Given the description of an element on the screen output the (x, y) to click on. 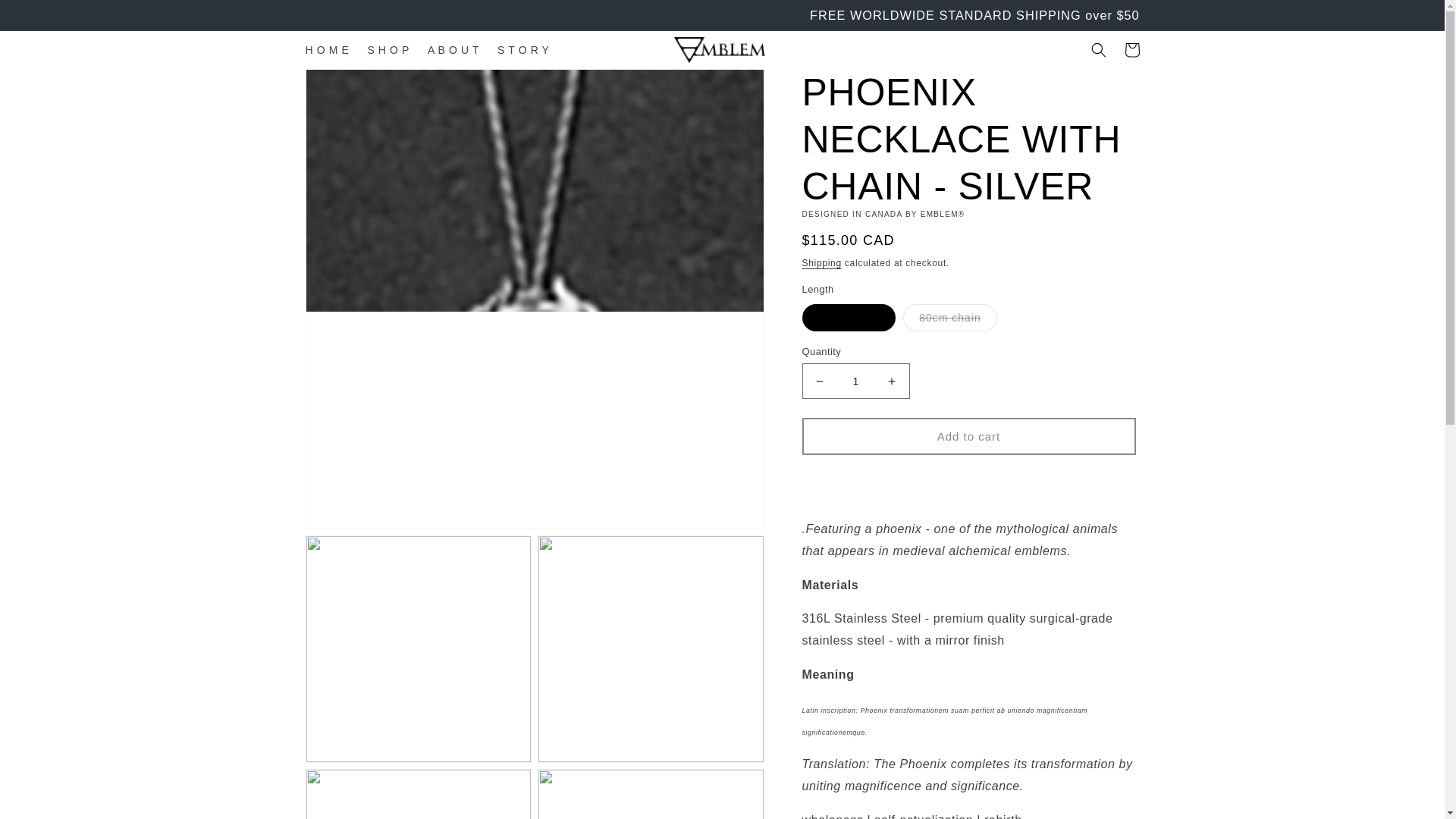
1 (856, 380)
Shipping (821, 262)
Skip to product information (351, 86)
A B O U T (453, 50)
Increase quantity for PHOENIX NECKLACE WITH CHAIN - SILVER (891, 380)
Decrease quantity for PHOENIX NECKLACE WITH CHAIN - SILVER (818, 380)
S H O P (388, 50)
Skip to content (46, 18)
H O M E (326, 50)
Cart (1131, 49)
S T O R Y (522, 50)
Add to cart (968, 436)
